Given the description of an element on the screen output the (x, y) to click on. 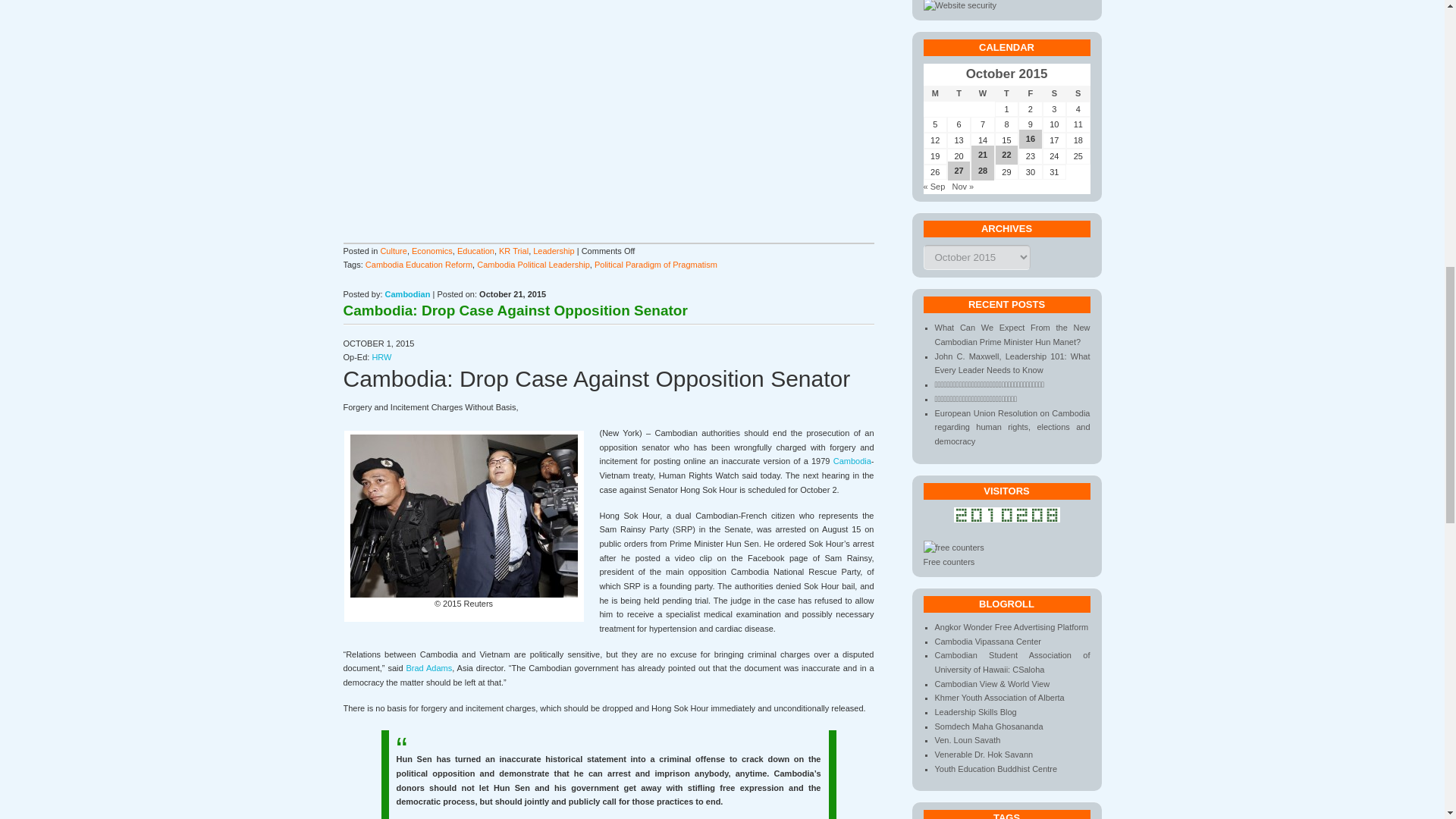
Thursday (1005, 93)
Monday (935, 93)
Tuesday (959, 93)
Friday (1029, 93)
SiteLock (960, 6)
Sunday (1077, 93)
Wednesday (982, 93)
Posts by Cambodian (407, 293)
Saturday (1053, 93)
